Given the description of an element on the screen output the (x, y) to click on. 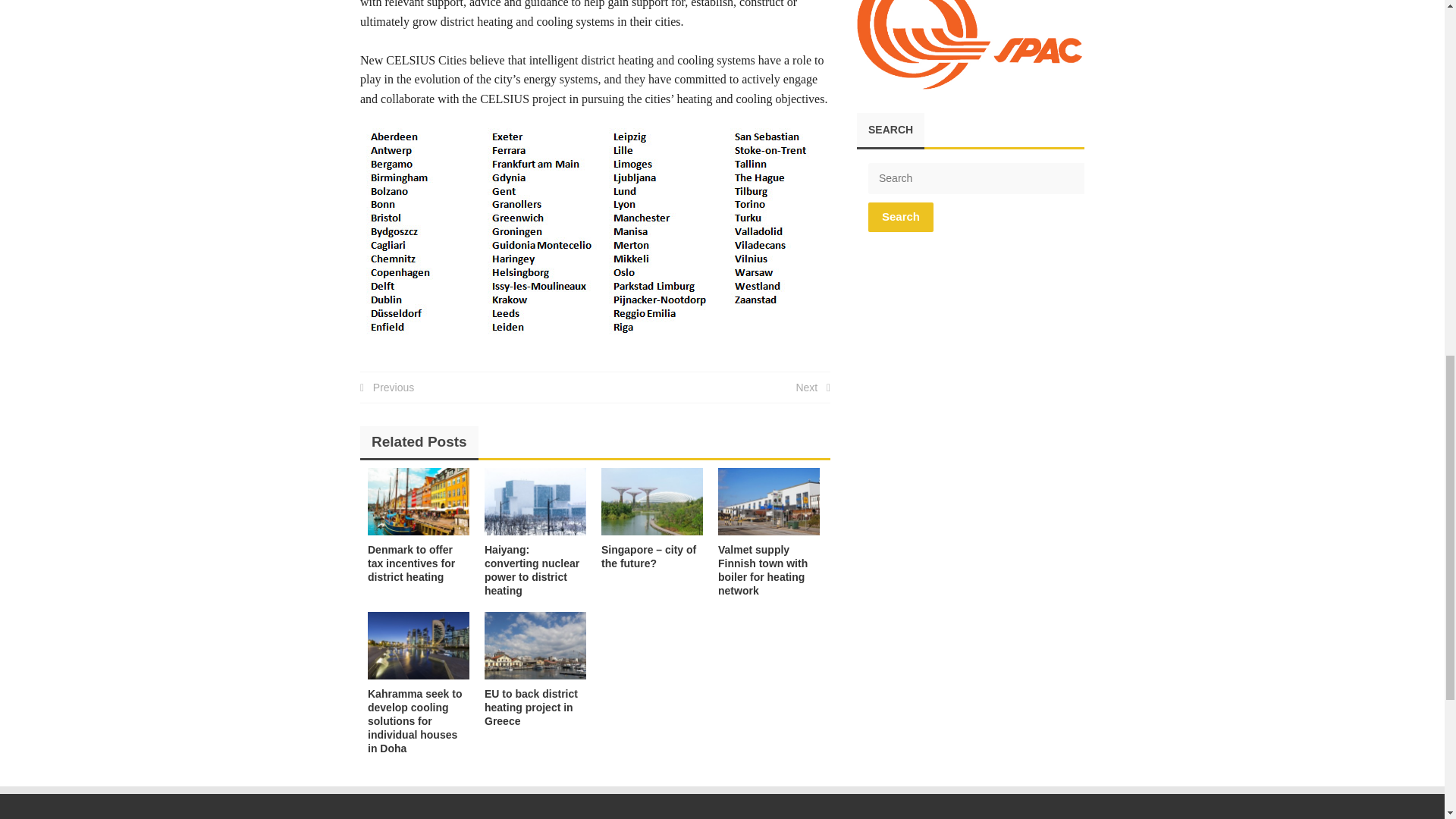
Valmet supply Finnish town with boiler for heating network (768, 501)
Valmet supply Finnish town with boiler for heating network (762, 570)
Denmark to offer tax incentives for district heating (418, 501)
Haiyang: converting nuclear power to district heating (531, 570)
EU to back district heating project in Greece (531, 707)
Search (900, 216)
Denmark to offer tax incentives for district heating (411, 563)
Next   (811, 387)
Haiyang: converting nuclear power to district heating (535, 501)
  Previous (386, 387)
Valmet supply Finnish town with boiler for heating network (762, 570)
EU to back district heating project in Greece (535, 645)
Haiyang: converting nuclear power to district heating (531, 570)
